Given the description of an element on the screen output the (x, y) to click on. 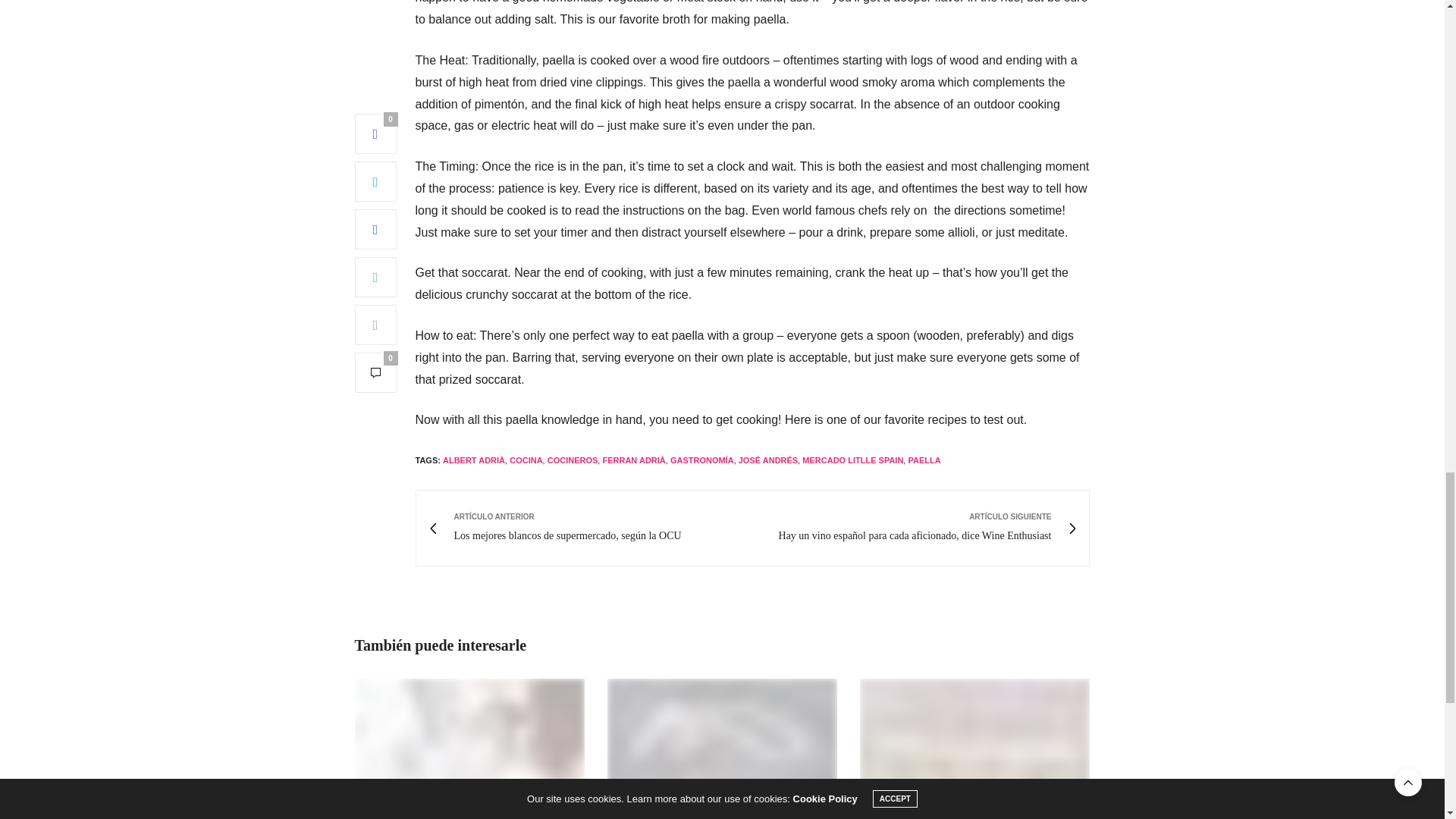
MERCADO LITLLE SPAIN (852, 460)
COCINEROS (572, 460)
Disfrutar, mejor restaurante del mundo (722, 741)
COCINA (525, 460)
PAELLA (923, 460)
